Given the description of an element on the screen output the (x, y) to click on. 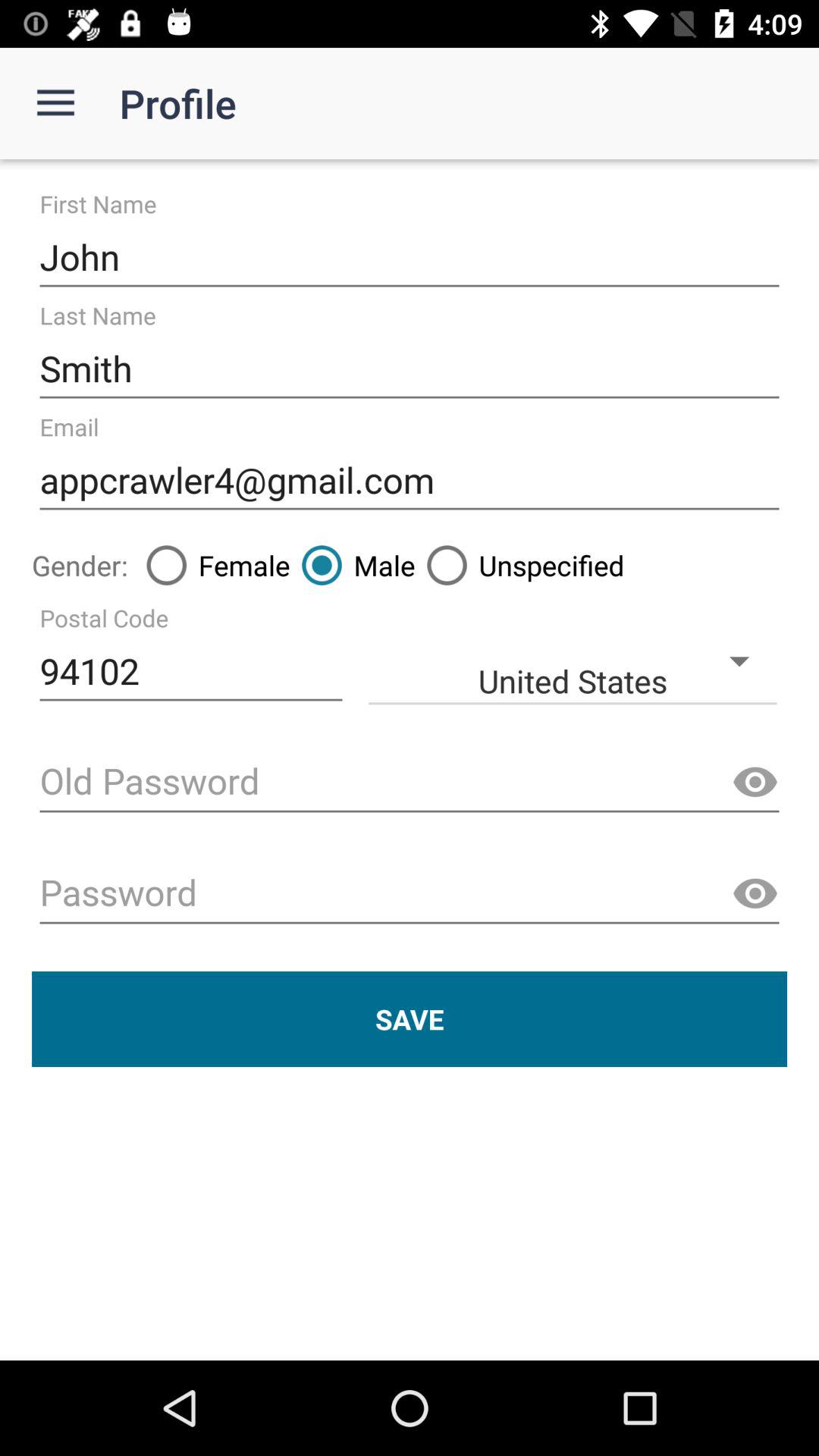
turn off the item next to united states icon (190, 671)
